Given the description of an element on the screen output the (x, y) to click on. 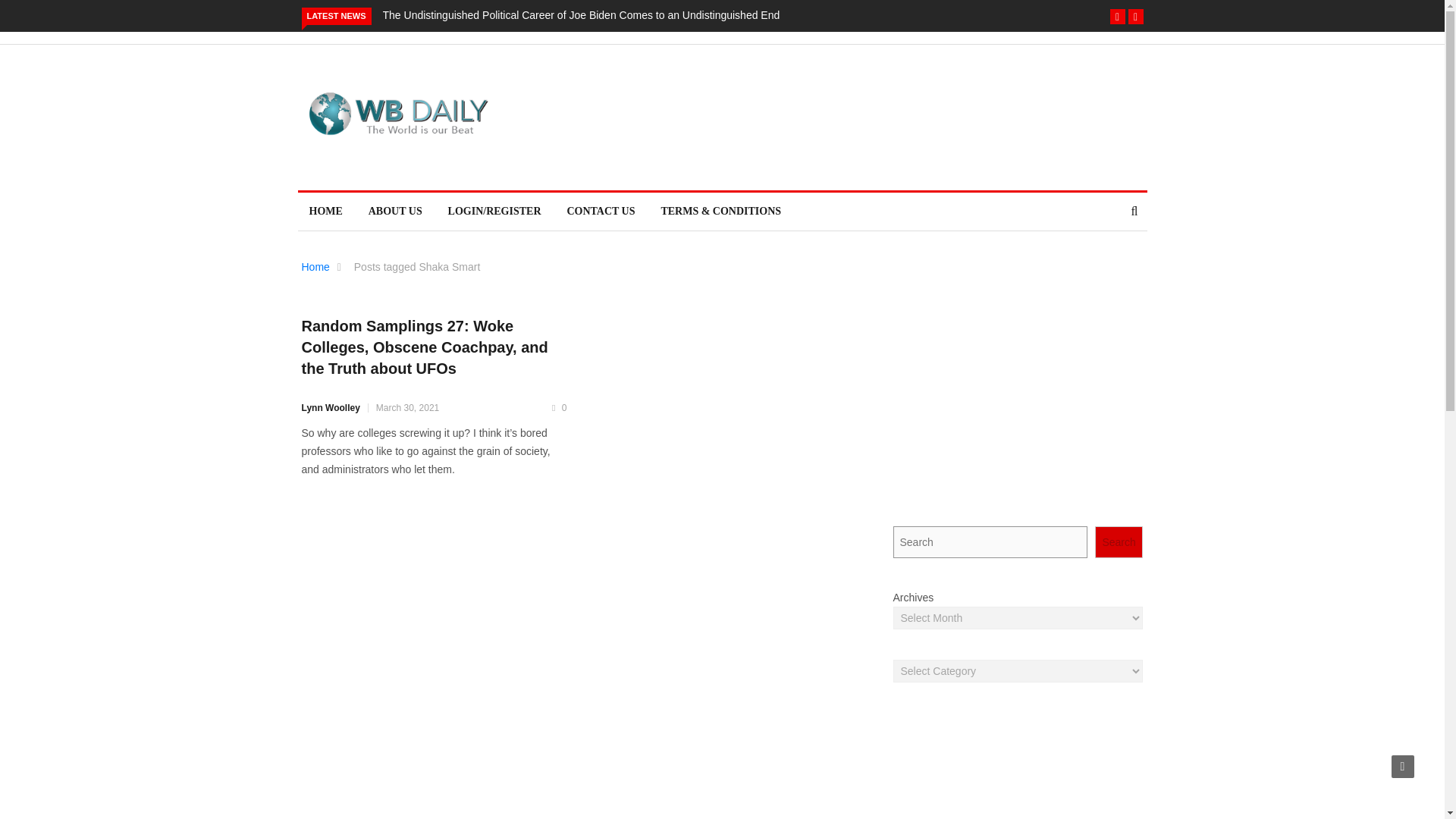
Back to Top (1402, 766)
Advertisement (1017, 765)
logo (398, 114)
Search (1118, 541)
ABOUT US (394, 211)
March 30, 2021 (407, 407)
CONTACT US (600, 211)
HOME (325, 211)
Advertisement (792, 116)
Advertisement (1017, 401)
Home (315, 266)
Lynn Woolley (330, 407)
